Given the description of an element on the screen output the (x, y) to click on. 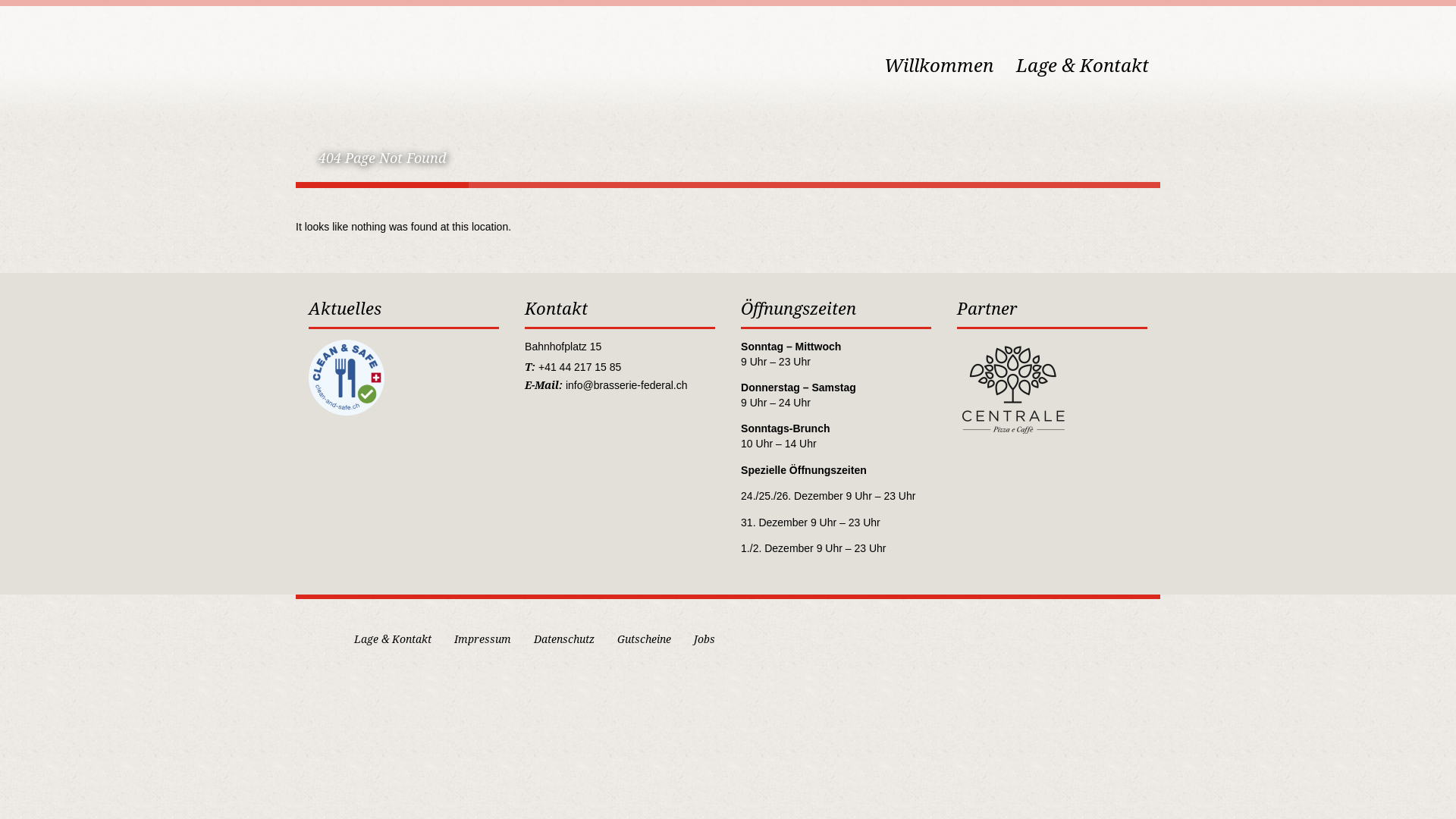
info@brasserie-federal.ch Element type: text (626, 385)
Lage & Kontakt Element type: text (1082, 46)
Jobs Element type: text (704, 639)
Impressum Element type: text (482, 639)
Lage & Kontakt Element type: text (392, 639)
Willkommen Element type: text (938, 46)
Gutscheine Element type: text (644, 639)
Datenschutz Element type: text (563, 639)
